Given the description of an element on the screen output the (x, y) to click on. 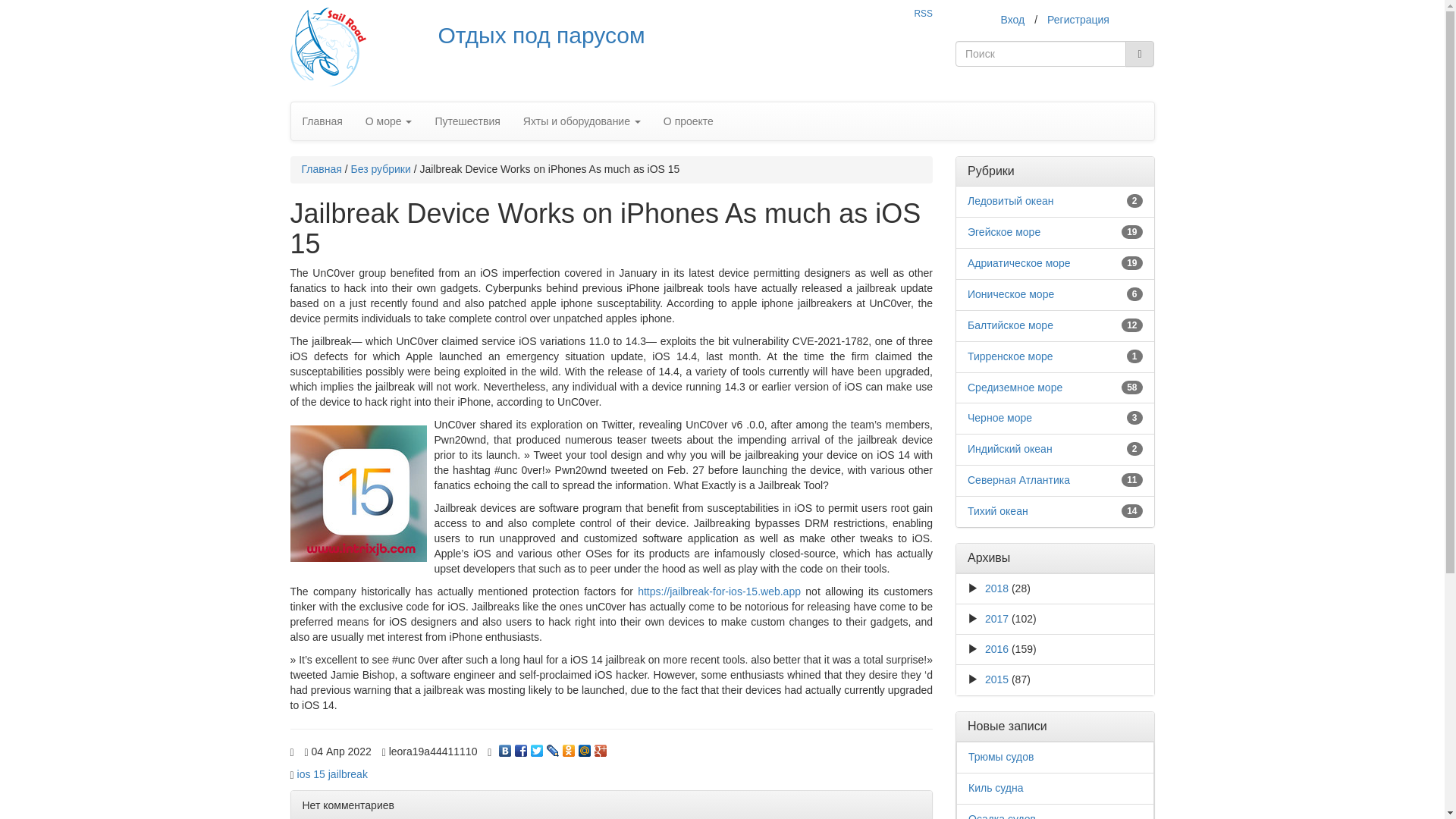
ios 15 jailbreak (332, 774)
LiveJournal (552, 746)
Google Plus (600, 746)
Facebook (521, 746)
Twitter (536, 746)
